Given the description of an element on the screen output the (x, y) to click on. 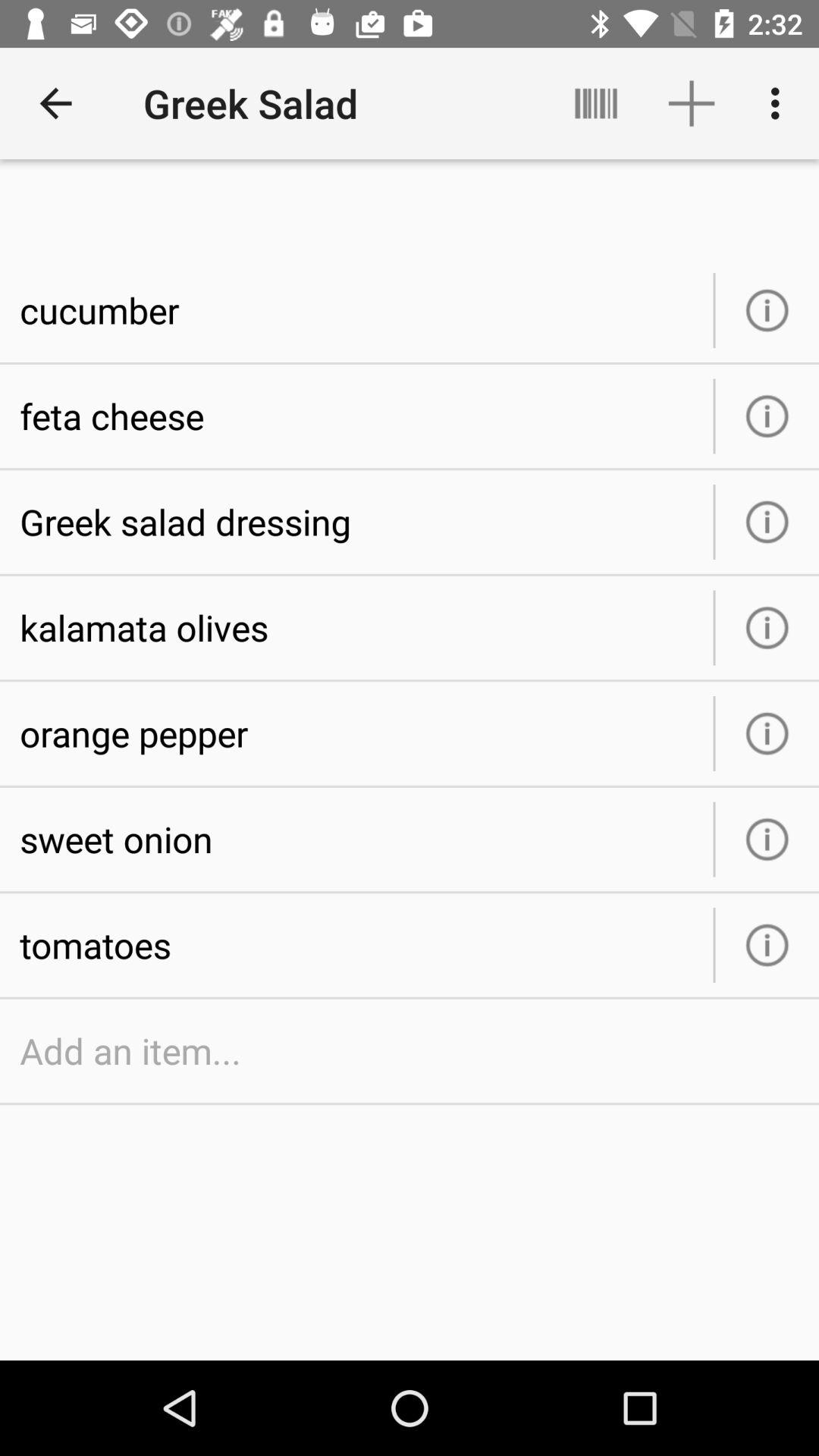
turn off the item next to the greek salad icon (595, 103)
